Given the description of an element on the screen output the (x, y) to click on. 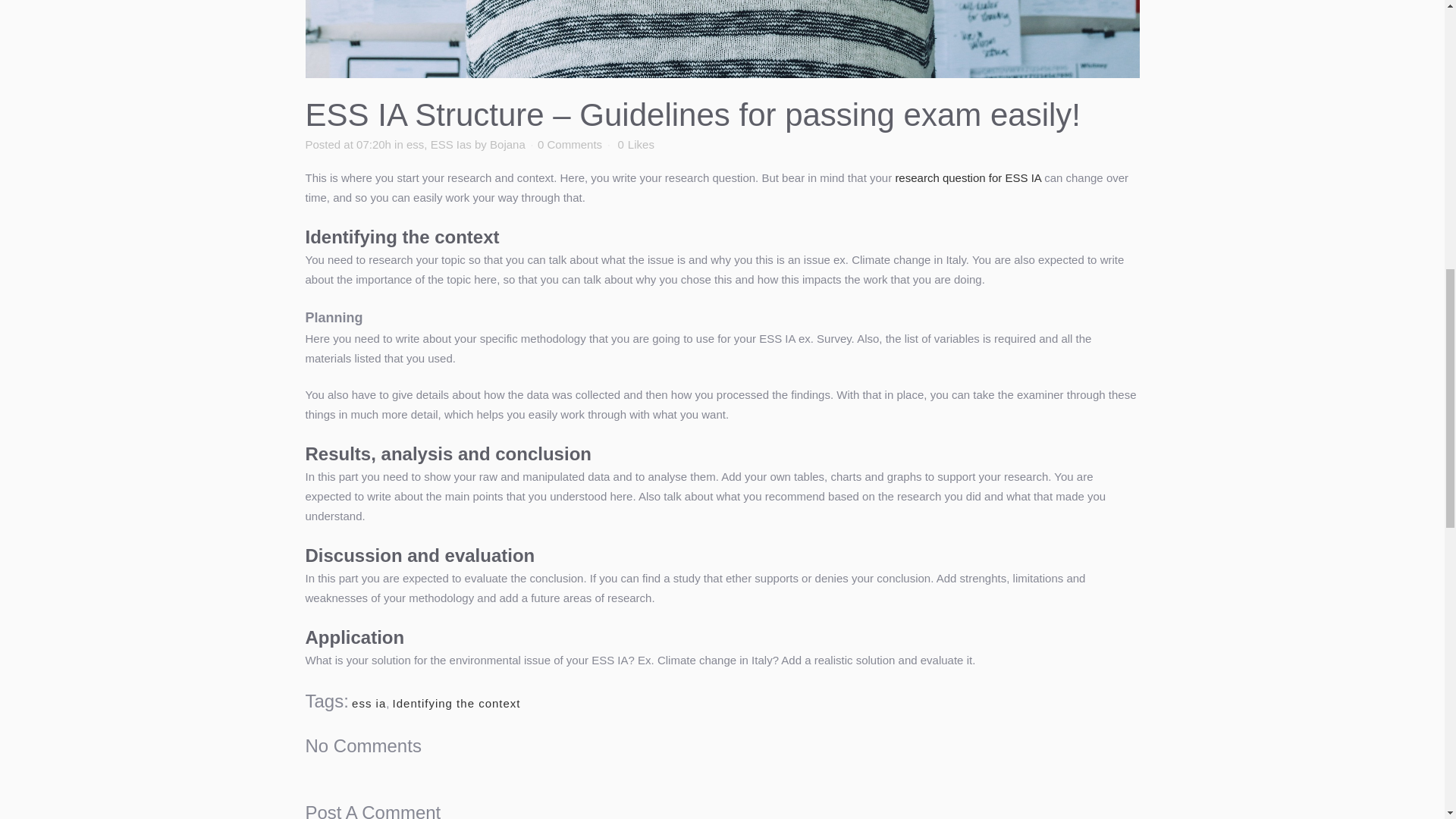
ess ia (368, 703)
Like this (635, 144)
ess (414, 144)
0 Likes (635, 144)
ESS Ias (450, 144)
research question for ESS IA (968, 177)
0 Comments (569, 144)
Bojana (507, 144)
Identifying the context (457, 703)
